Given the description of an element on the screen output the (x, y) to click on. 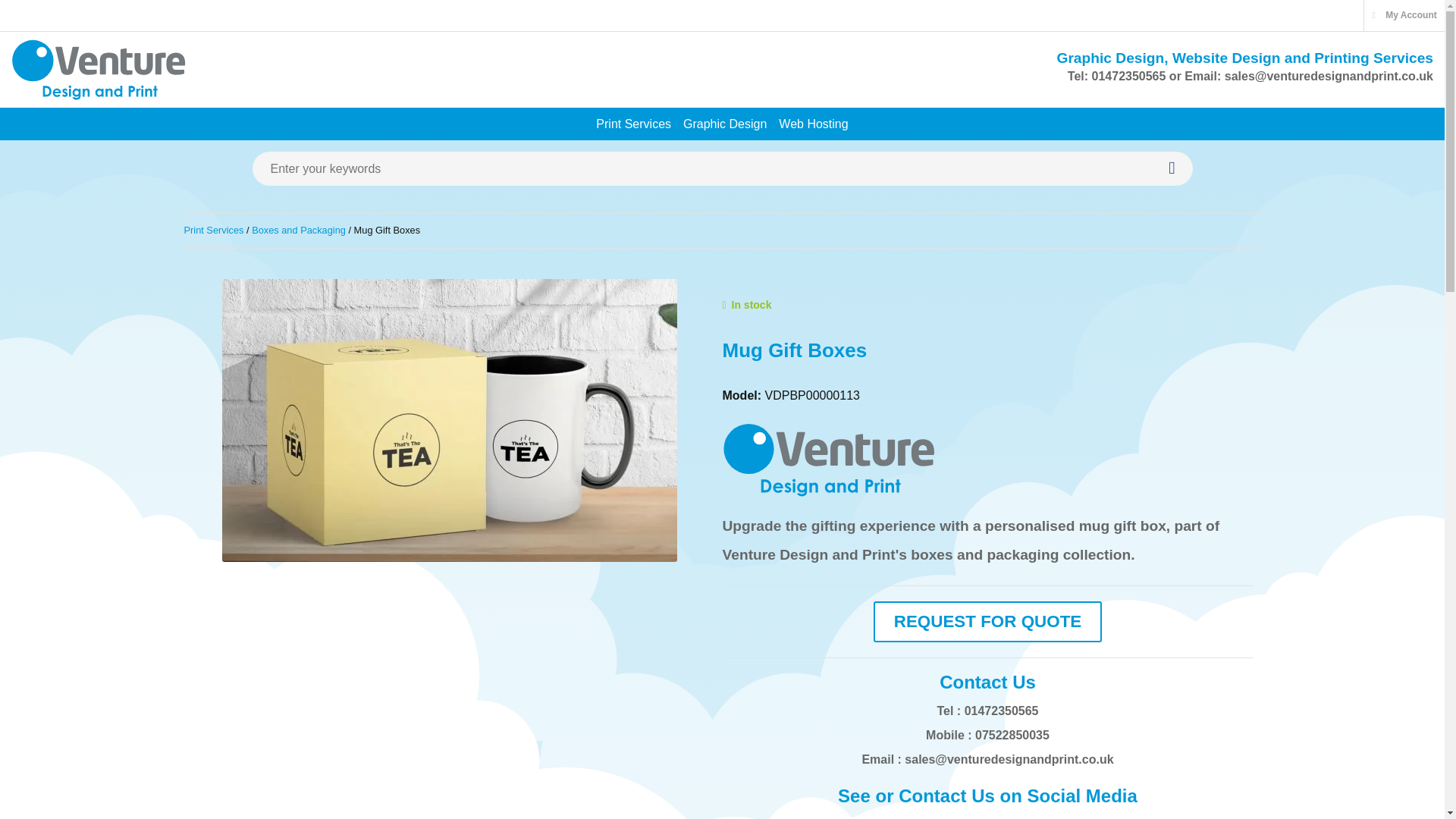
Graphic Design (725, 123)
Boxes and Packaging (298, 229)
Web Hosting (813, 123)
Print Services (633, 123)
Print Services (213, 229)
My Account (1404, 15)
Mug Gift Boxes (449, 420)
